Given the description of an element on the screen output the (x, y) to click on. 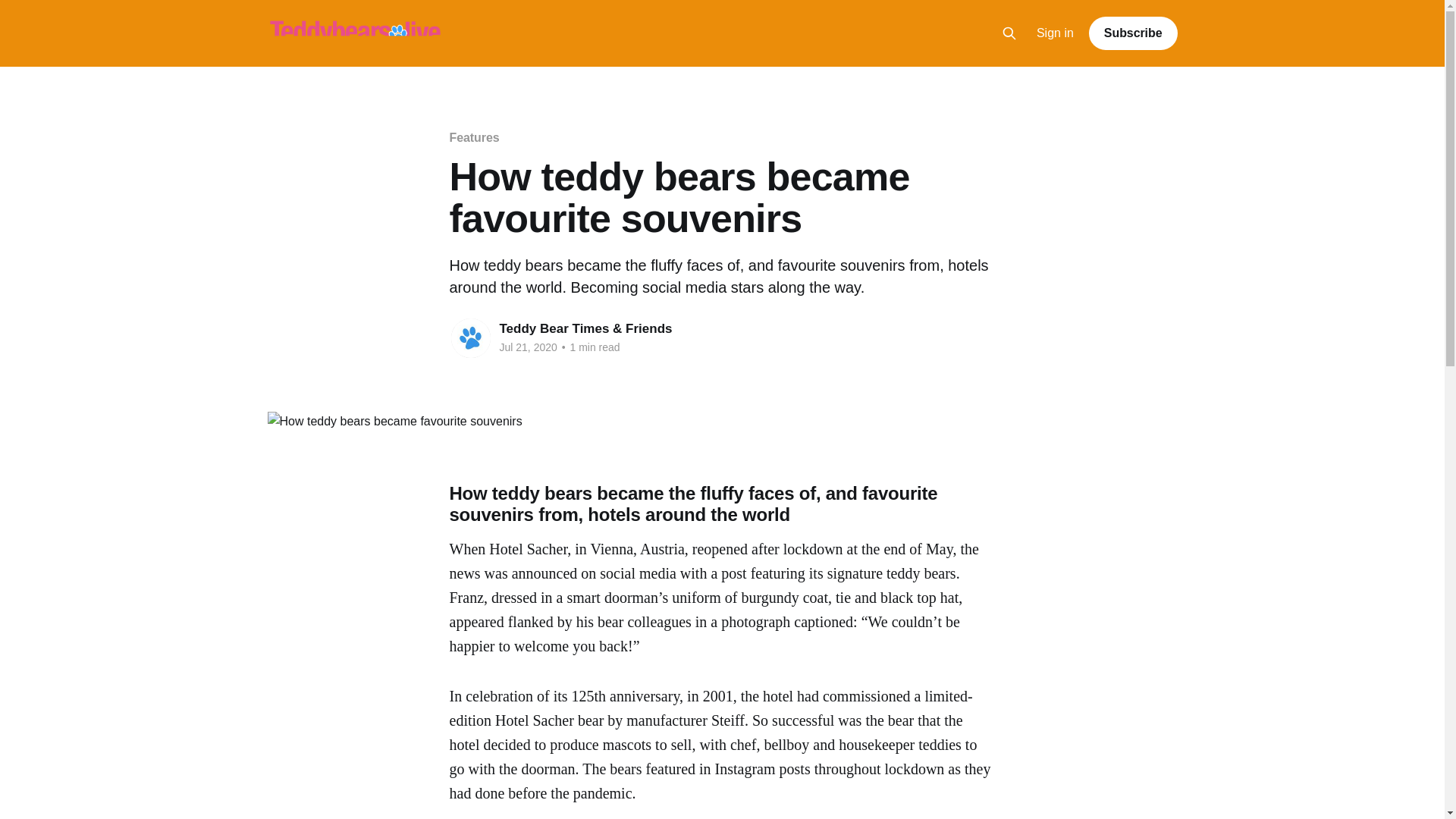
Features (473, 137)
Sign in (1055, 33)
Subscribe (1133, 32)
